Given the description of an element on the screen output the (x, y) to click on. 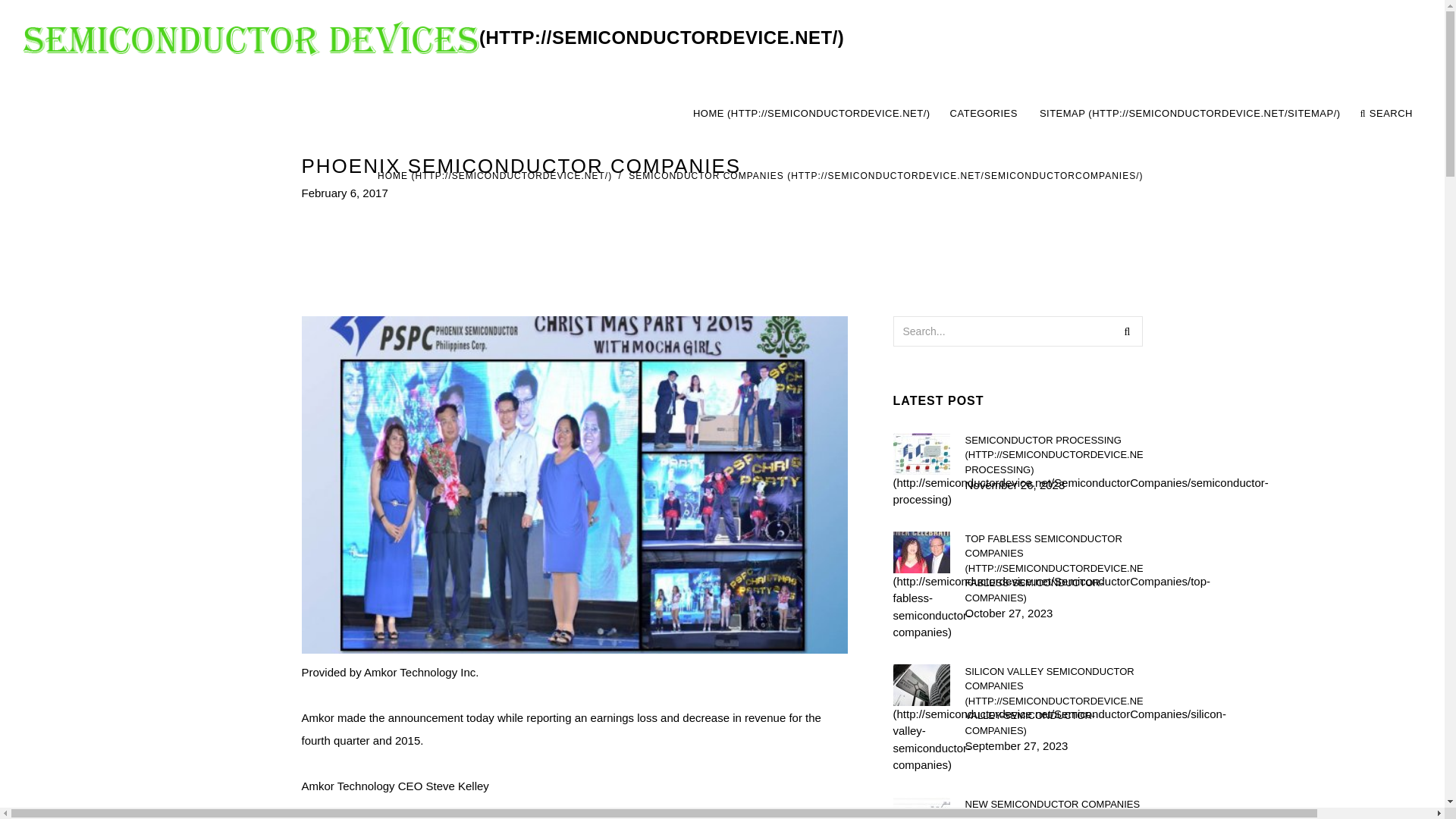
SITEMAP (1189, 113)
TOP FABLESS SEMICONDUCTOR COMPANIES (1052, 113)
Search (1052, 567)
SILICON VALLEY SEMICONDUCTOR COMPANIES (1126, 330)
SEMICONDUCTOR PROCESSING (1052, 701)
Semiconductor devices (1052, 454)
CATEGORIES (433, 38)
HOME (984, 113)
SEMICONDUCTOR COMPANIES (494, 175)
